Given the description of an element on the screen output the (x, y) to click on. 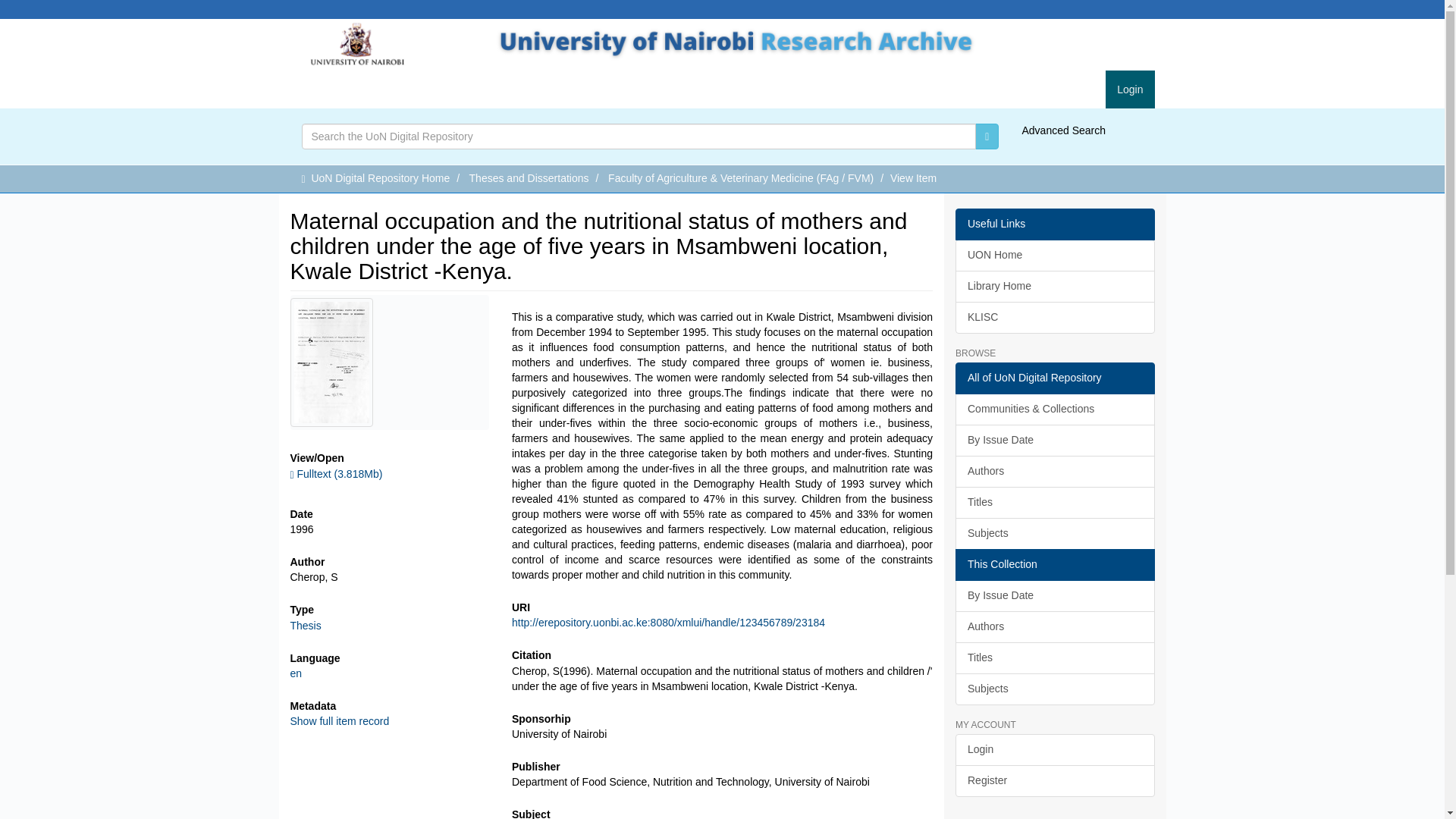
UON Home (1054, 255)
UoN Digital Repository Home (380, 177)
Show full item record (338, 720)
Authors (1054, 471)
Library Home (1054, 286)
en (295, 673)
Useful Links (1054, 224)
Thesis (304, 625)
KLISC (1054, 317)
By Issue Date (1054, 440)
Titles (1054, 502)
Advanced Search (1063, 130)
Theses and Dissertations (528, 177)
All of UoN Digital Repository (1054, 377)
Login (1129, 89)
